Given the description of an element on the screen output the (x, y) to click on. 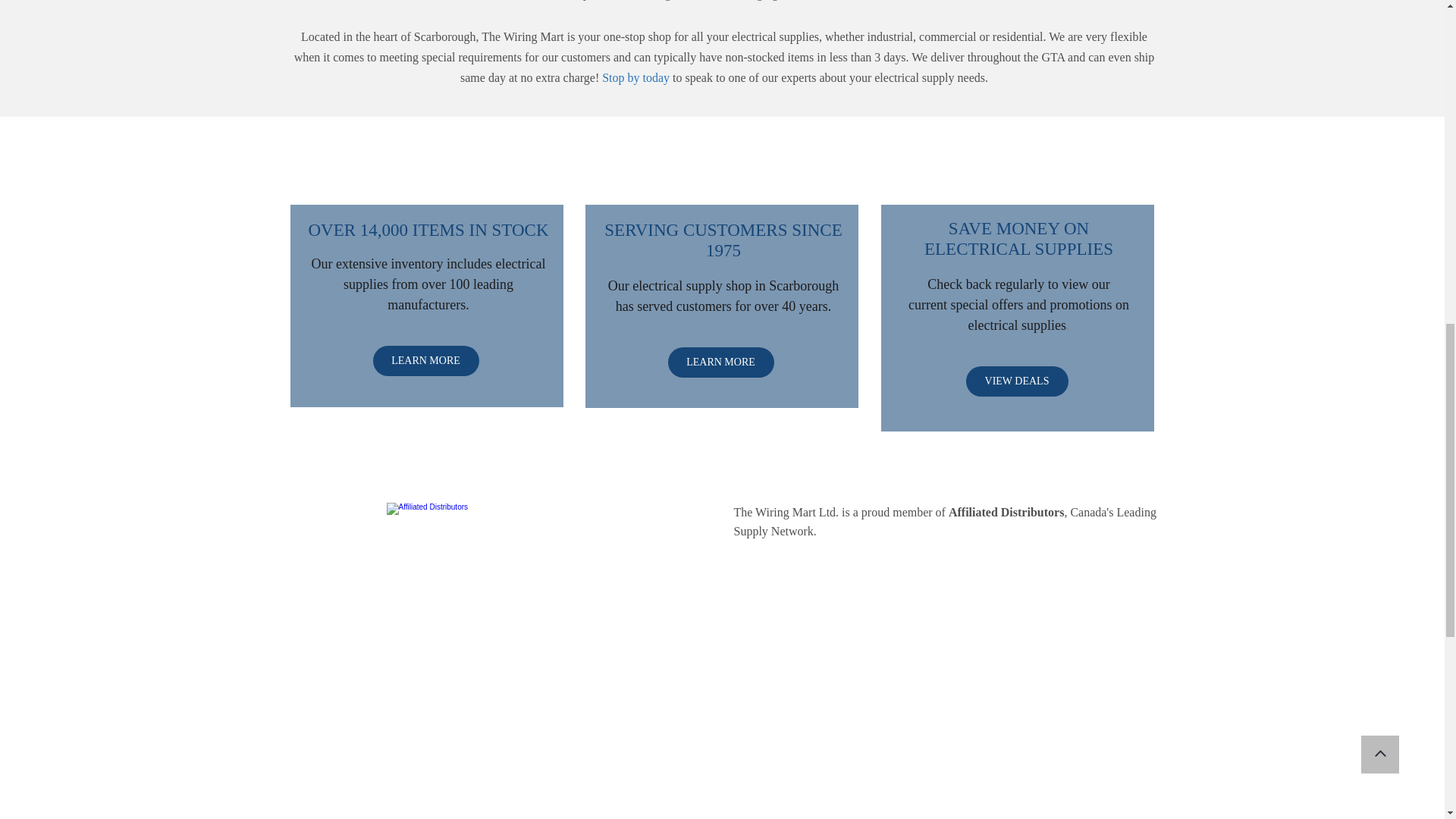
LEARN MORE (425, 360)
VIEW DEALS (1017, 381)
LEARN MORE (719, 362)
Stop by today (635, 79)
